Given the description of an element on the screen output the (x, y) to click on. 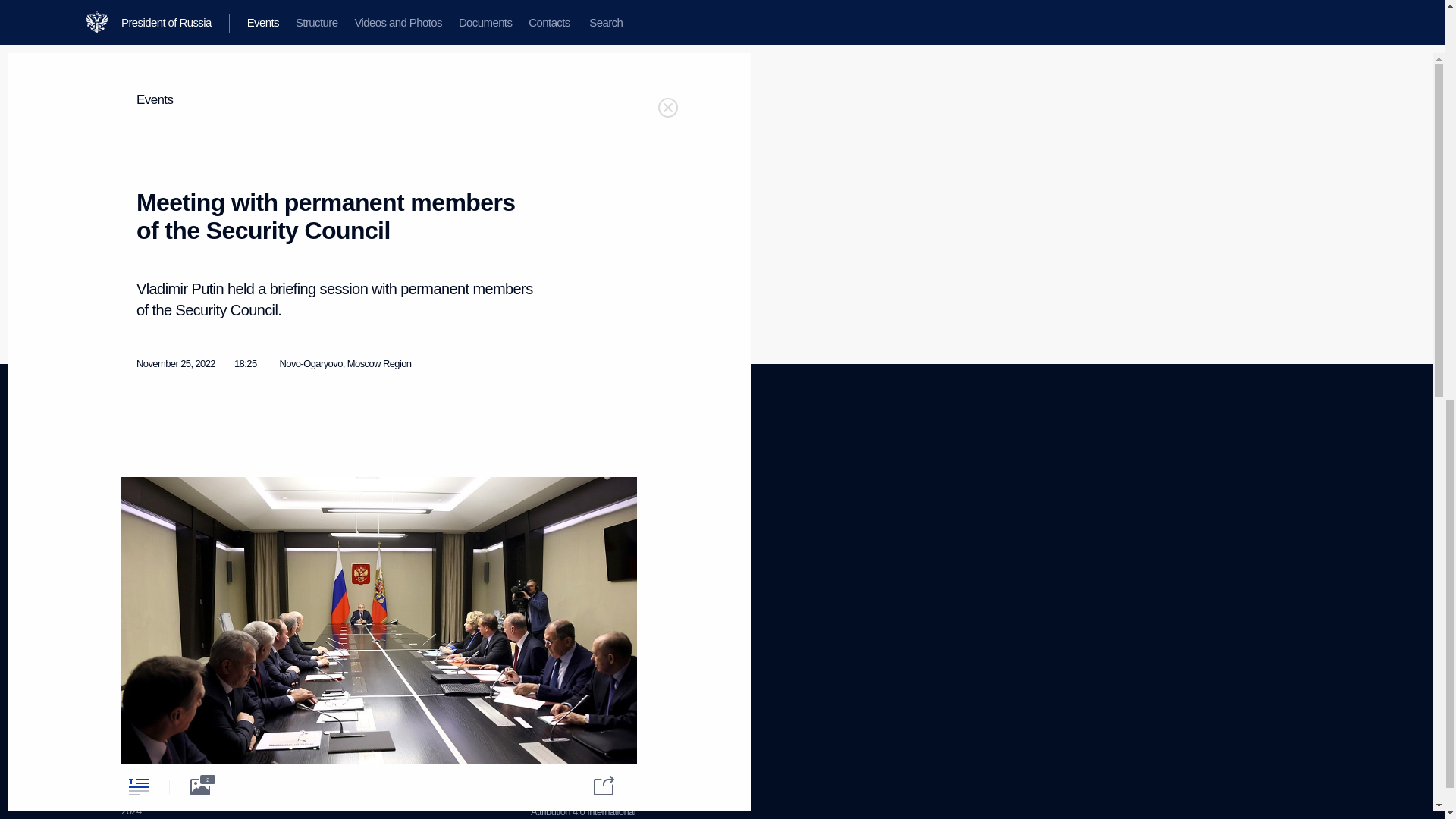
Subscribe (140, 646)
YouTube Channel (429, 514)
Structure (138, 500)
Directory (138, 665)
Personal data of website users (579, 525)
For the Media (148, 611)
Events (134, 480)
Search (134, 575)
Documents (143, 537)
Videos and Photos (158, 518)
Contacts (138, 556)
Valentina Matviyenko (240, 70)
Contact website team (573, 550)
Creative Commons Attribution 4.0 International (582, 805)
Using website content (574, 500)
